Given the description of an element on the screen output the (x, y) to click on. 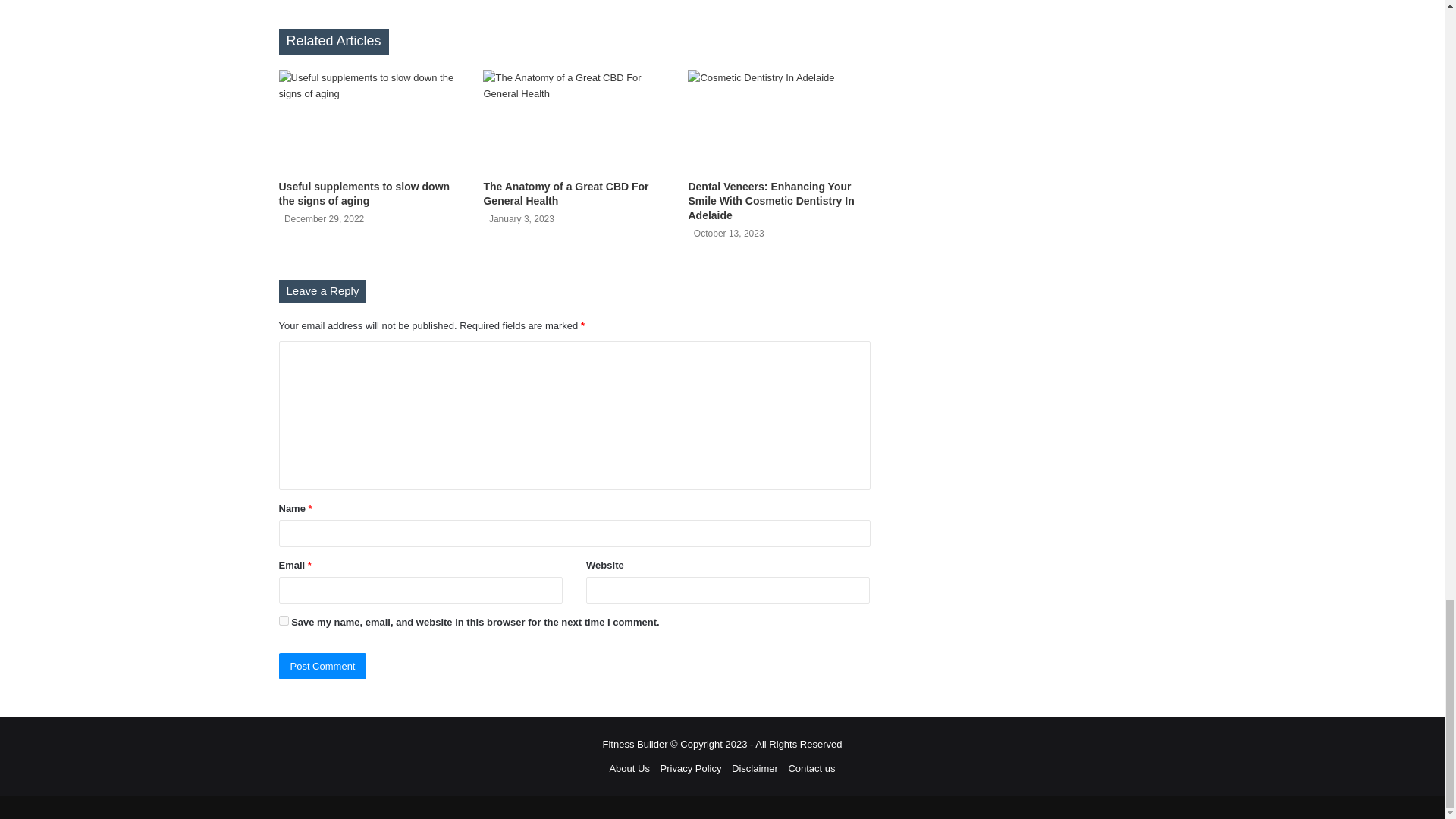
The Anatomy of a Great CBD For General Health (565, 193)
Useful supplements to slow down the signs of aging (364, 193)
Post Comment (322, 665)
yes (283, 620)
